Given the description of an element on the screen output the (x, y) to click on. 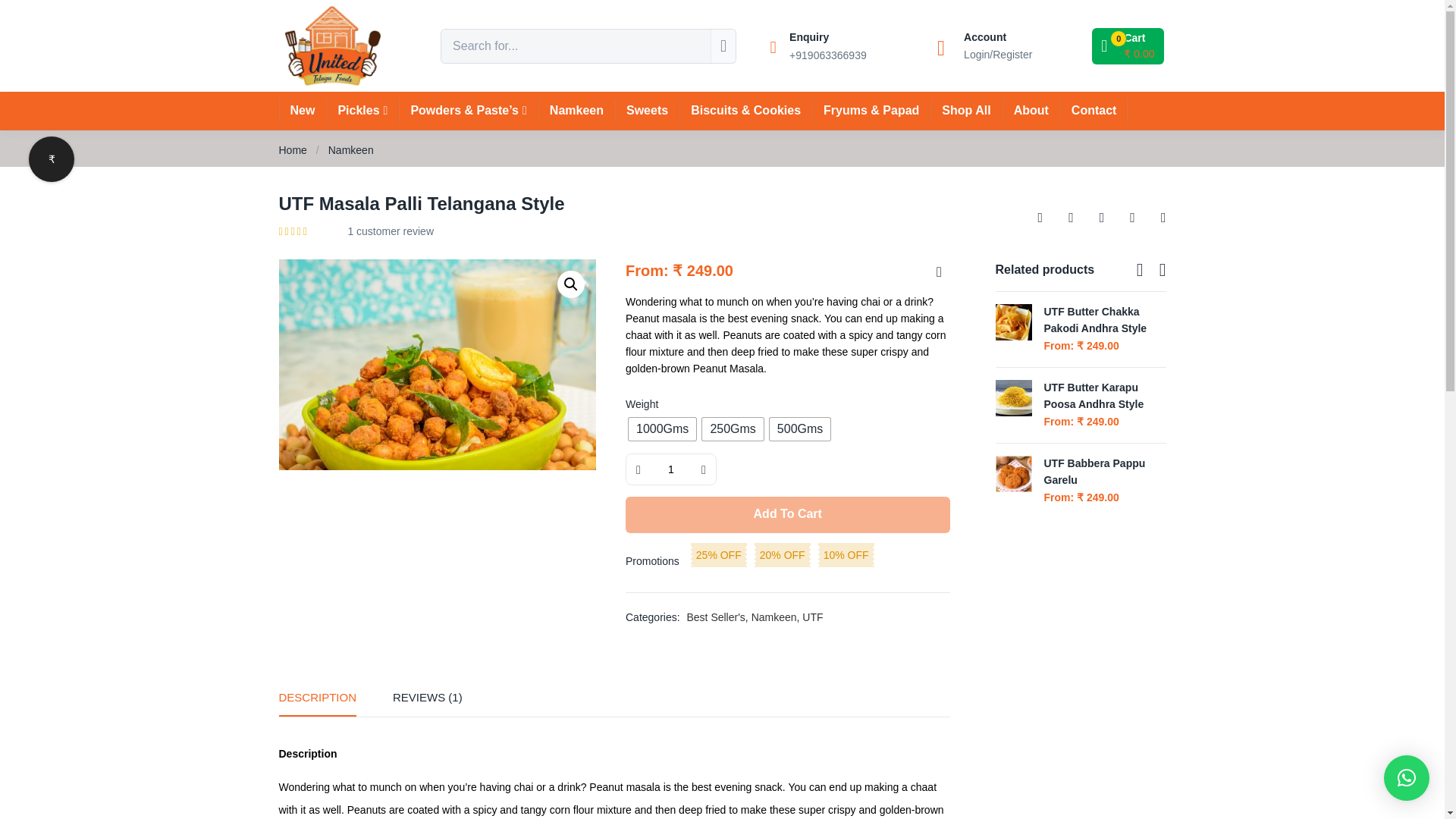
250Gms (731, 428)
1 (670, 469)
1000Gms (661, 428)
Qty (670, 469)
View your shopping cart (1128, 46)
500Gms (799, 428)
Deep,Fried,Masala,Peanuts,With,Tea,As,Evening,Snacks (437, 364)
